Given the description of an element on the screen output the (x, y) to click on. 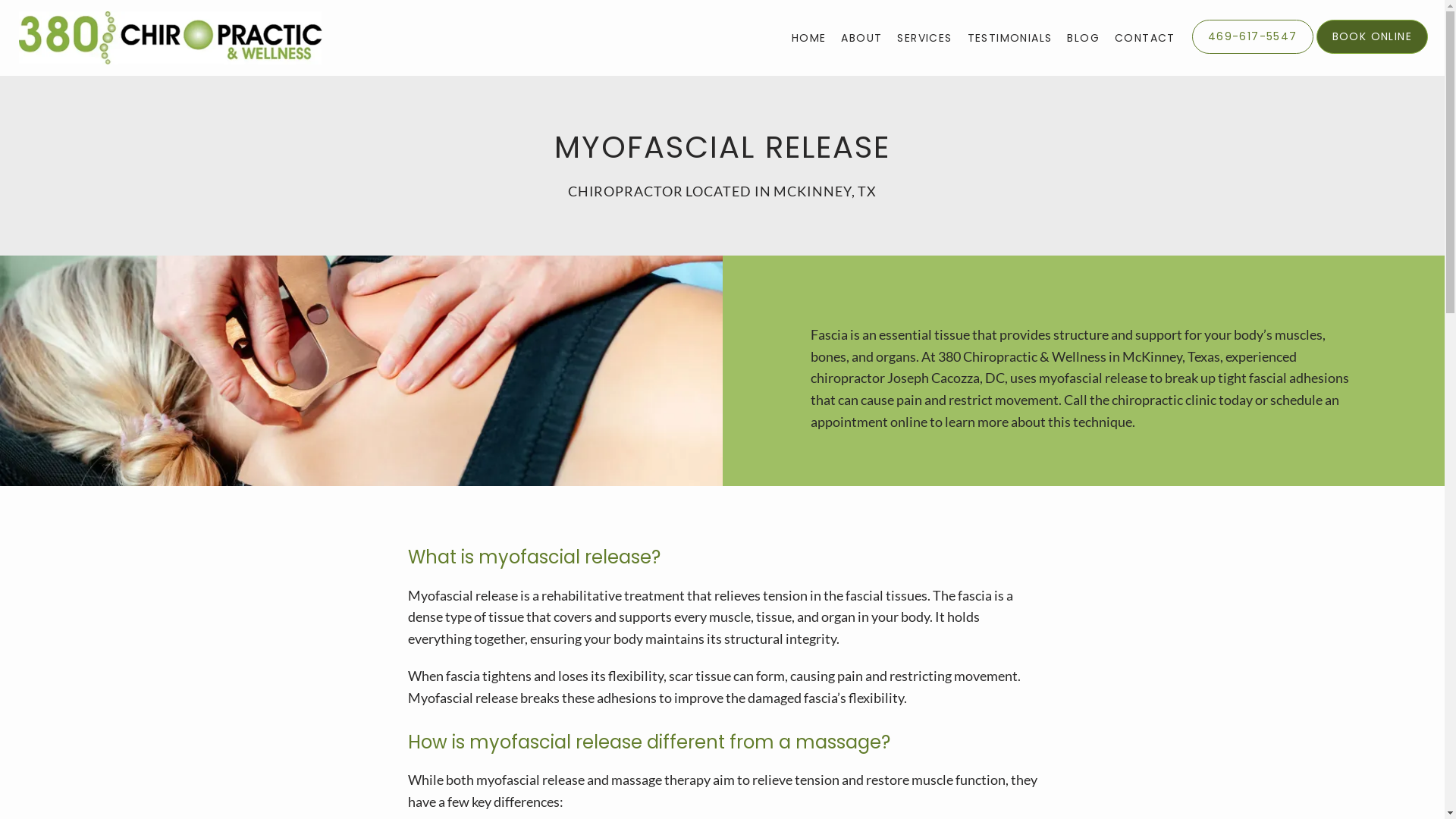
TESTIMONIALS Element type: text (1009, 37)
SERVICES Element type: text (924, 37)
469-617-5547 Element type: text (1252, 52)
ABOUT Element type: text (860, 37)
BOOK ONLINE Element type: text (1371, 52)
BLOG Element type: text (1082, 37)
HOME Element type: text (808, 37)
CONTACT Element type: text (1144, 37)
